Given the description of an element on the screen output the (x, y) to click on. 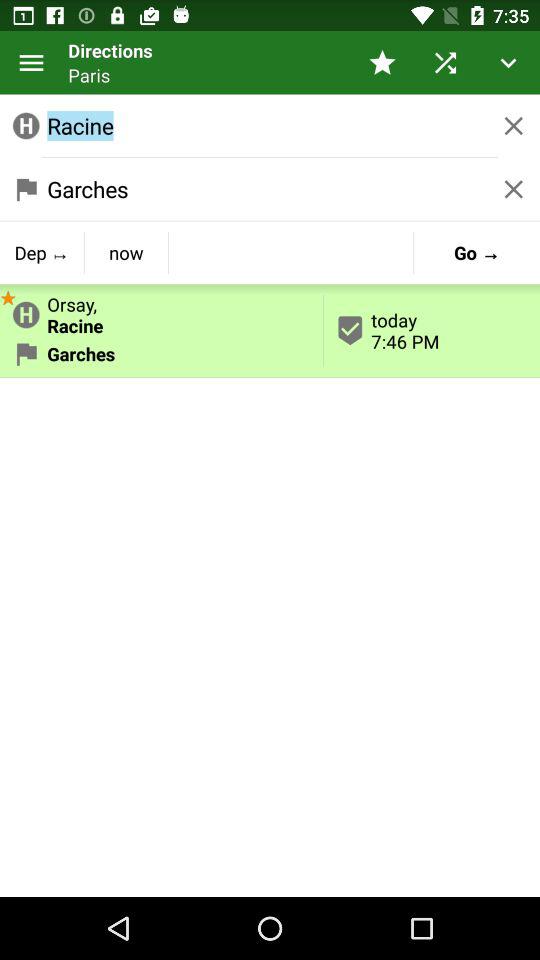
click the item next to now (42, 252)
